Given the description of an element on the screen output the (x, y) to click on. 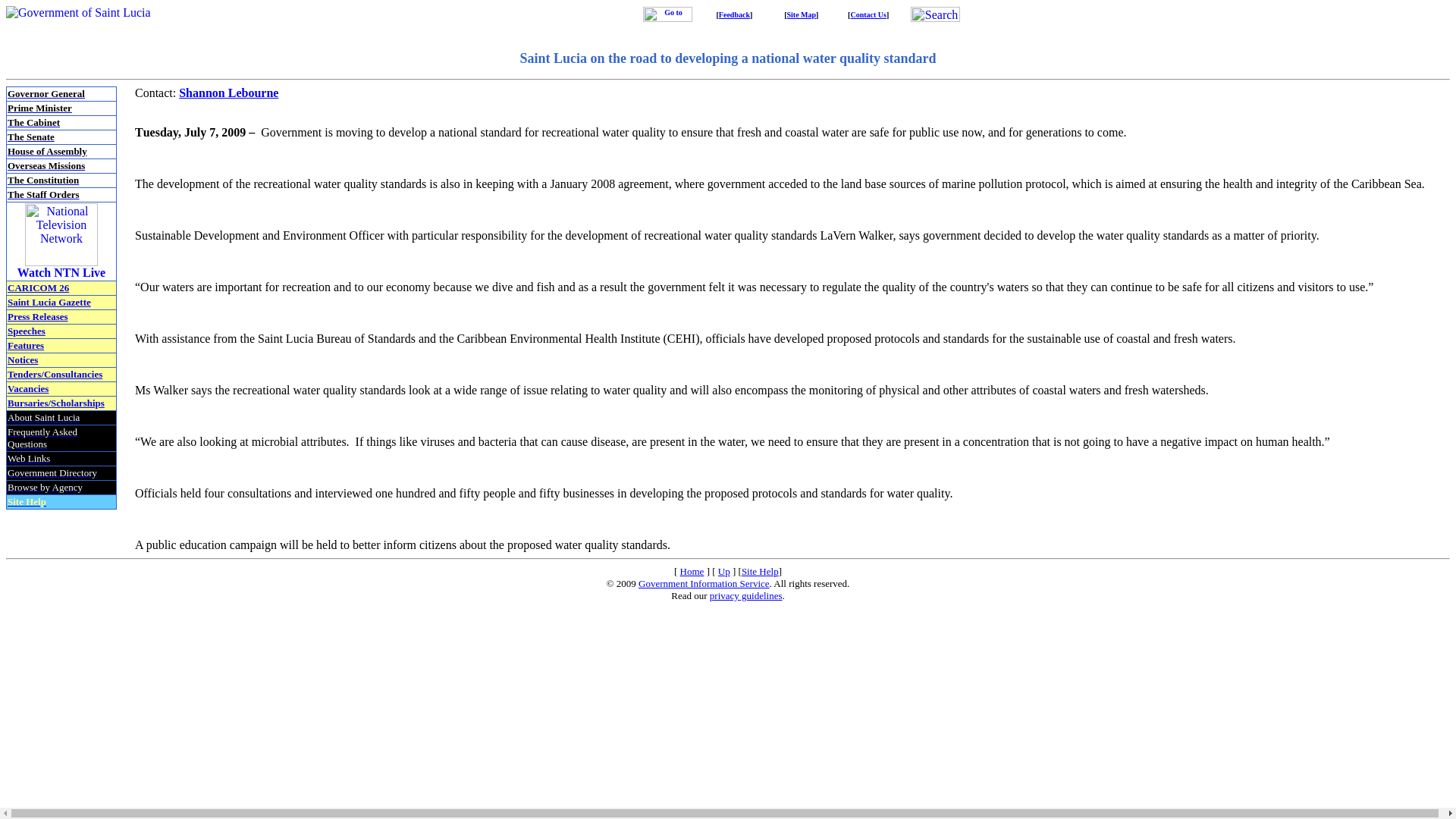
Frequently Asked Questions (42, 437)
The Constitution (42, 179)
Speeches (26, 330)
CARICOM 26 (37, 287)
Overseas Missions (45, 165)
Government Directory (52, 472)
Site Help (26, 501)
Governor General (45, 93)
privacy guidelines (746, 595)
Contact Us (868, 14)
Watch NTN Live (60, 272)
Browse by Agency (44, 486)
Vacancies (27, 388)
Press Releases (37, 316)
Feedback (734, 14)
